Given the description of an element on the screen output the (x, y) to click on. 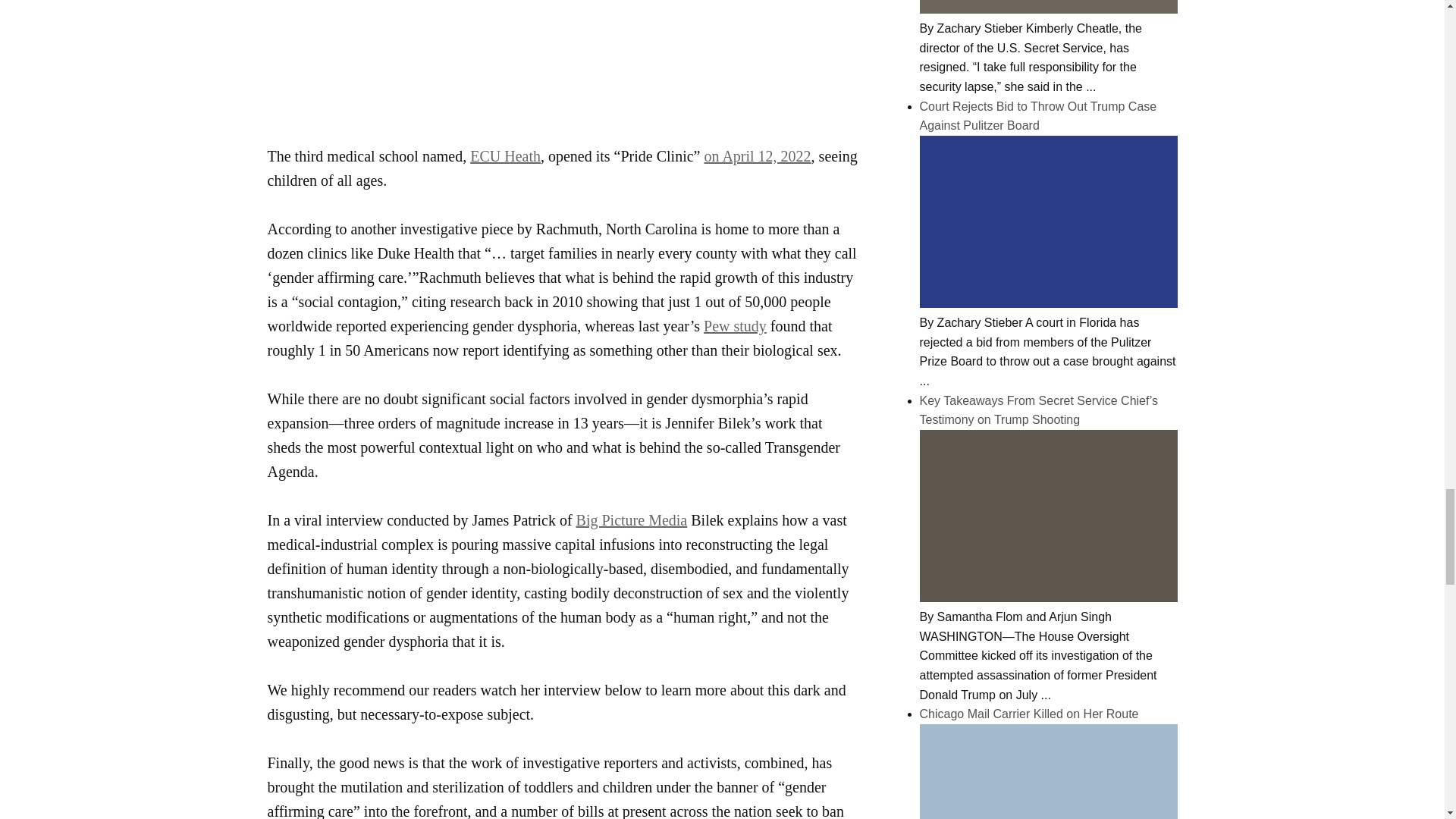
Secret Service Director Kimberly Cheatle Resigns (1047, 9)
